Given the description of an element on the screen output the (x, y) to click on. 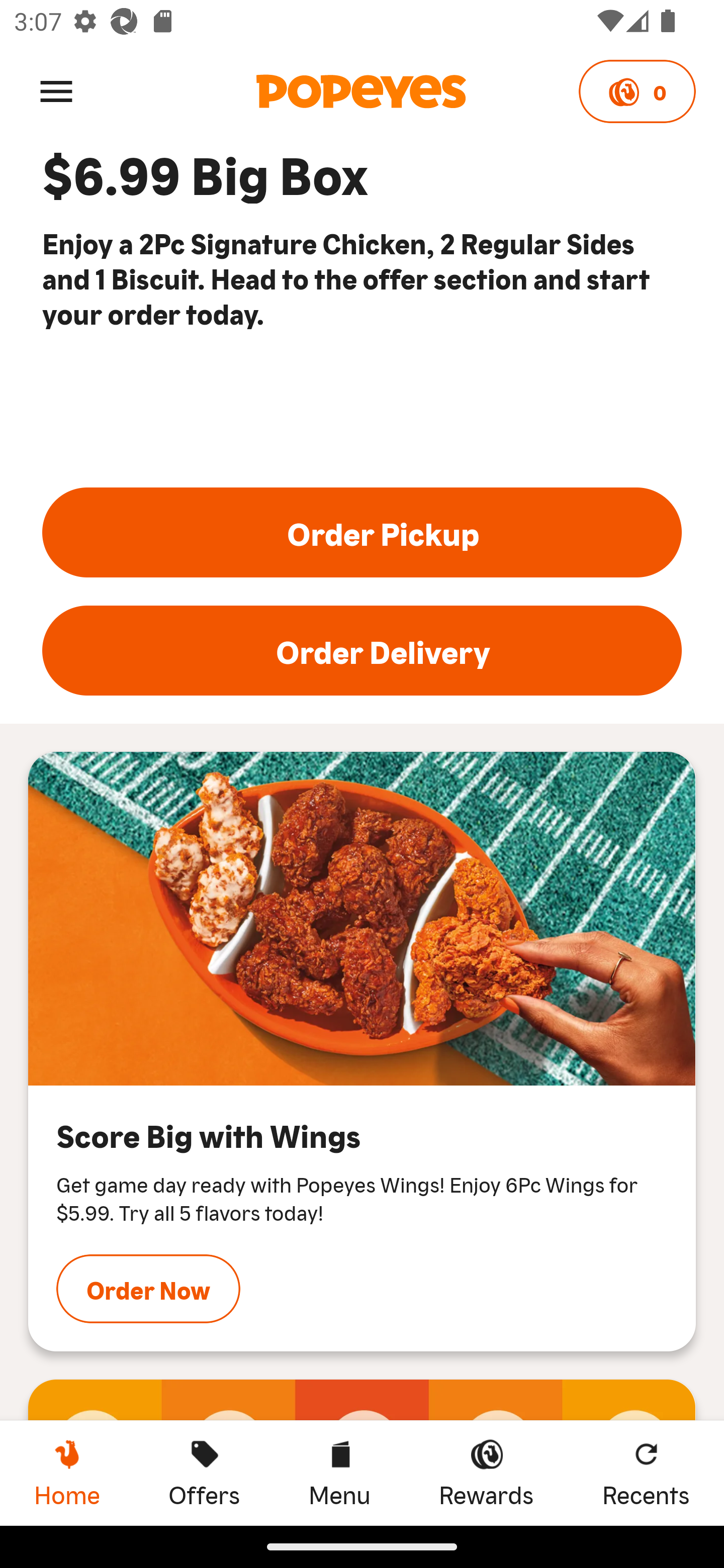
Menu  (56, 90)
0 Points 0 (636, 91)
Order Pickup (361, 532)
Order Delivery (361, 650)
Score Big with Wings (361, 918)
Order Now (148, 1288)
Home, current page Home Home, current page (66, 1472)
Offers Offers Offers (203, 1472)
Menu Menu Menu (339, 1472)
Rewards Rewards Rewards (486, 1472)
Recents Recents Recents (646, 1472)
